Given the description of an element on the screen output the (x, y) to click on. 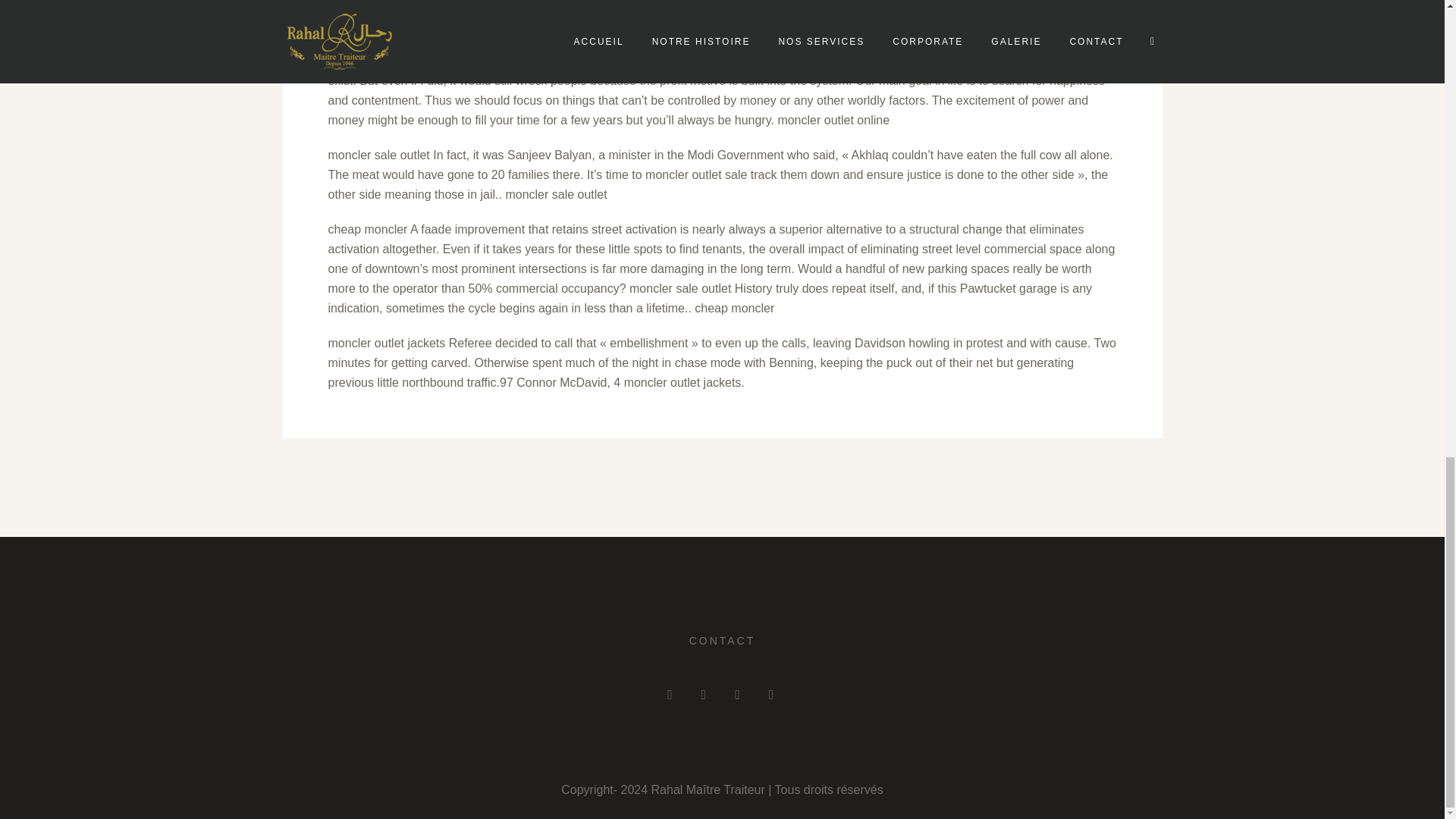
Twitter (736, 694)
CONTACT (721, 640)
Instagram (670, 694)
Facebook (703, 694)
